Given the description of an element on the screen output the (x, y) to click on. 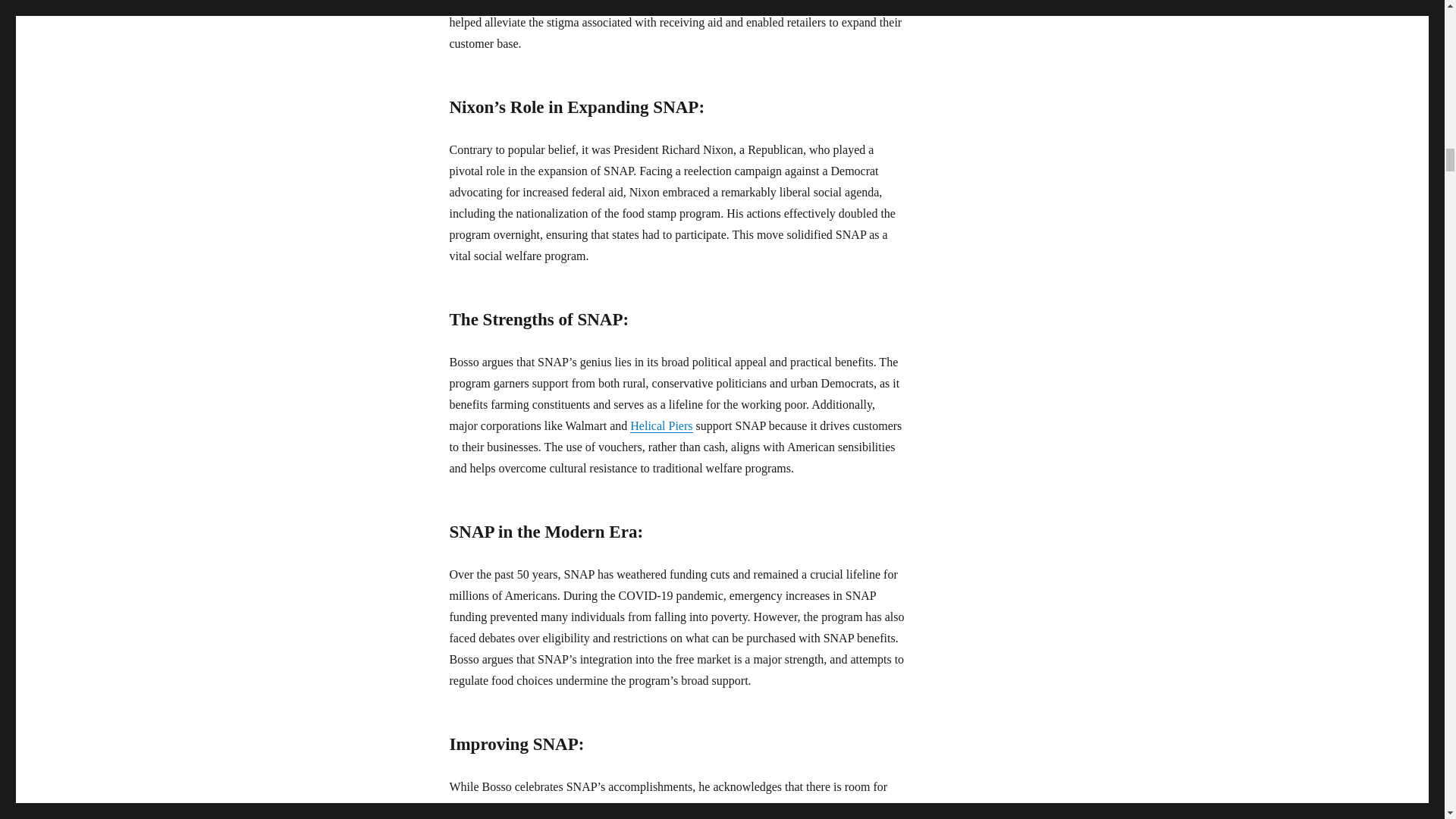
Helical Piers (661, 425)
